Given the description of an element on the screen output the (x, y) to click on. 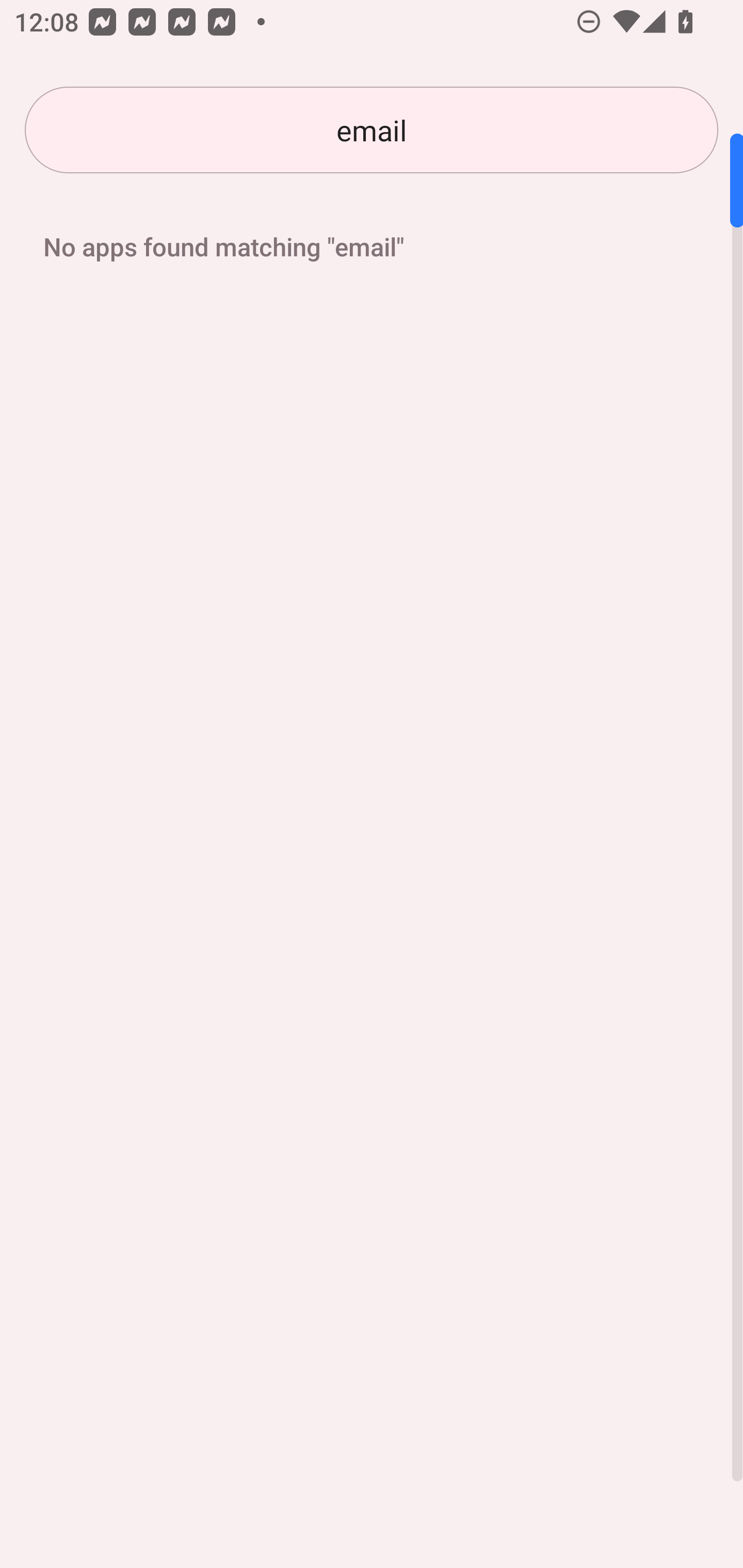
email (371, 130)
